Given the description of an element on the screen output the (x, y) to click on. 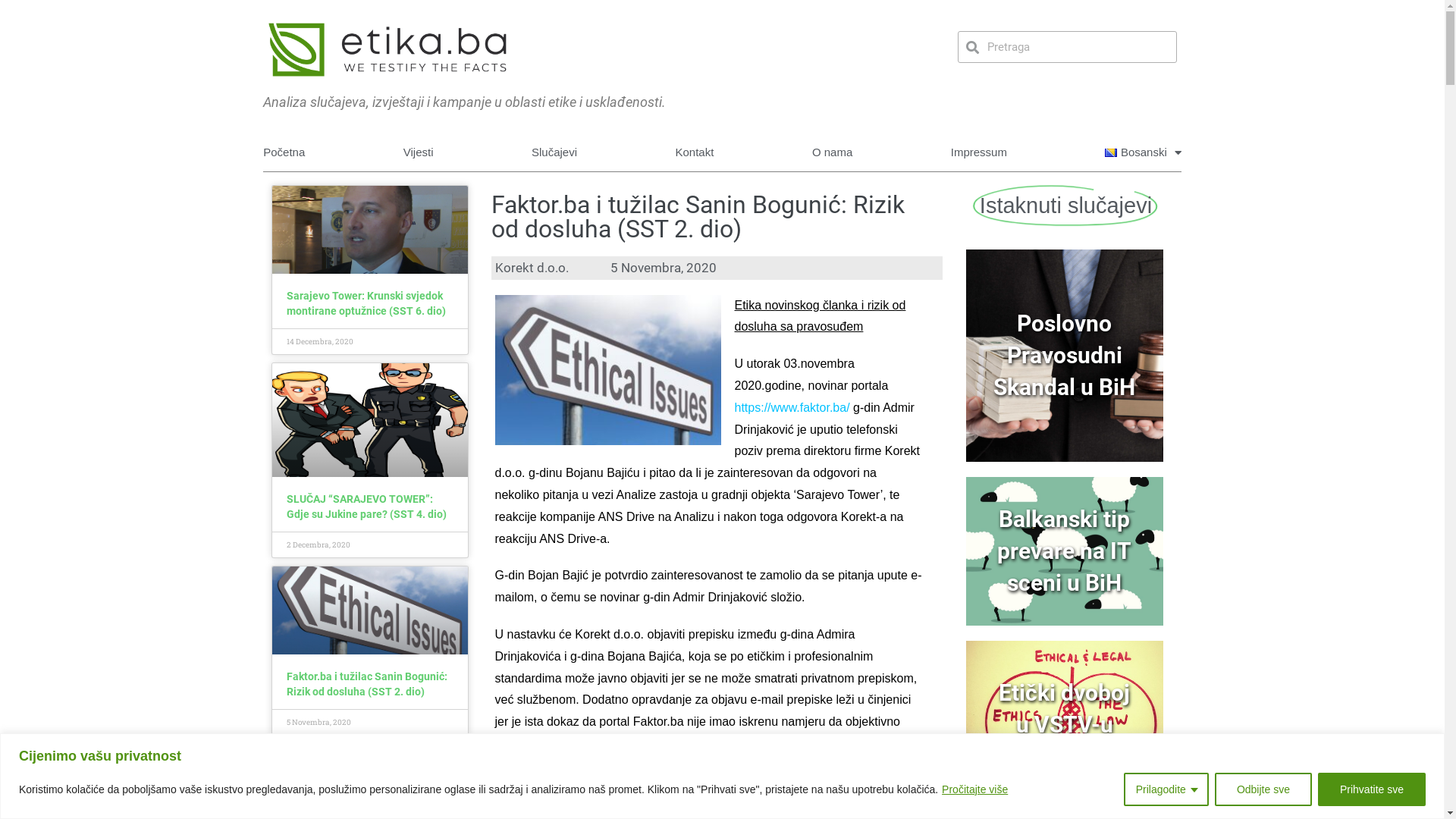
Kontakt Element type: text (694, 151)
Impressum Element type: text (978, 151)
5 Novembra, 2020 Element type: text (661, 267)
Search Element type: hover (1077, 46)
Prilagodite Element type: text (1165, 788)
O nama Element type: text (831, 151)
Korekt d.o.o. Element type: text (529, 267)
Balkanski tip prevare na IT sceni u BiH Element type: text (1065, 550)
Poslovno Pravosudni Skandal u BiH Element type: text (1065, 355)
Vijesti Element type: text (418, 151)
Odbijte sve Element type: text (1262, 788)
https://www.faktor.ba/ Element type: text (791, 407)
Prihvatite sve Element type: text (1371, 788)
Bosanski Element type: text (1143, 151)
